Given the description of an element on the screen output the (x, y) to click on. 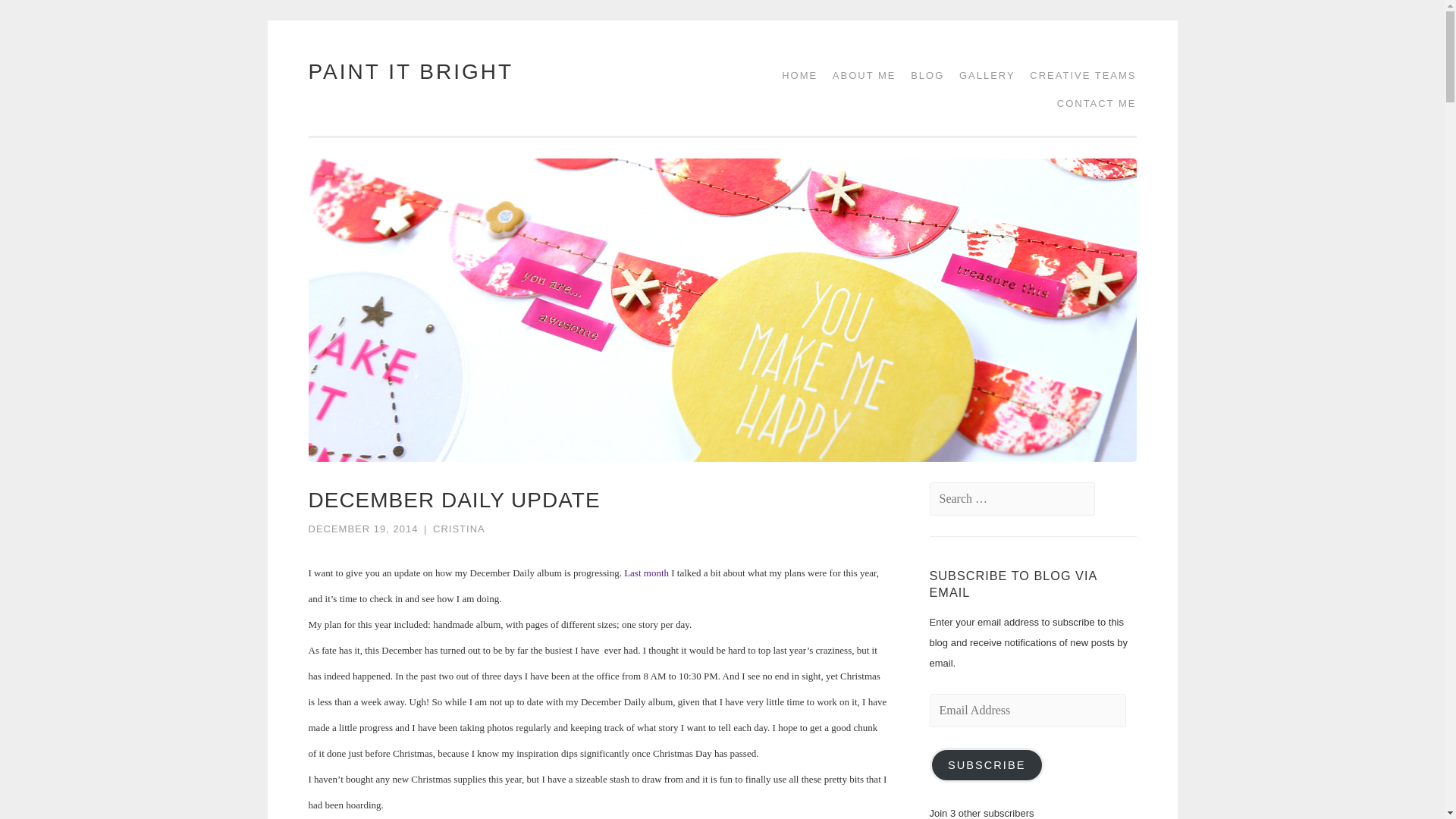
HOME (793, 75)
DECEMBER 19, 2014 (362, 528)
BLOG (921, 75)
Search (42, 16)
CONTACT ME (1091, 103)
Last month (646, 572)
ABOUT ME (859, 75)
CREATIVE TEAMS (1077, 75)
CRISTINA (458, 528)
